Given the description of an element on the screen output the (x, y) to click on. 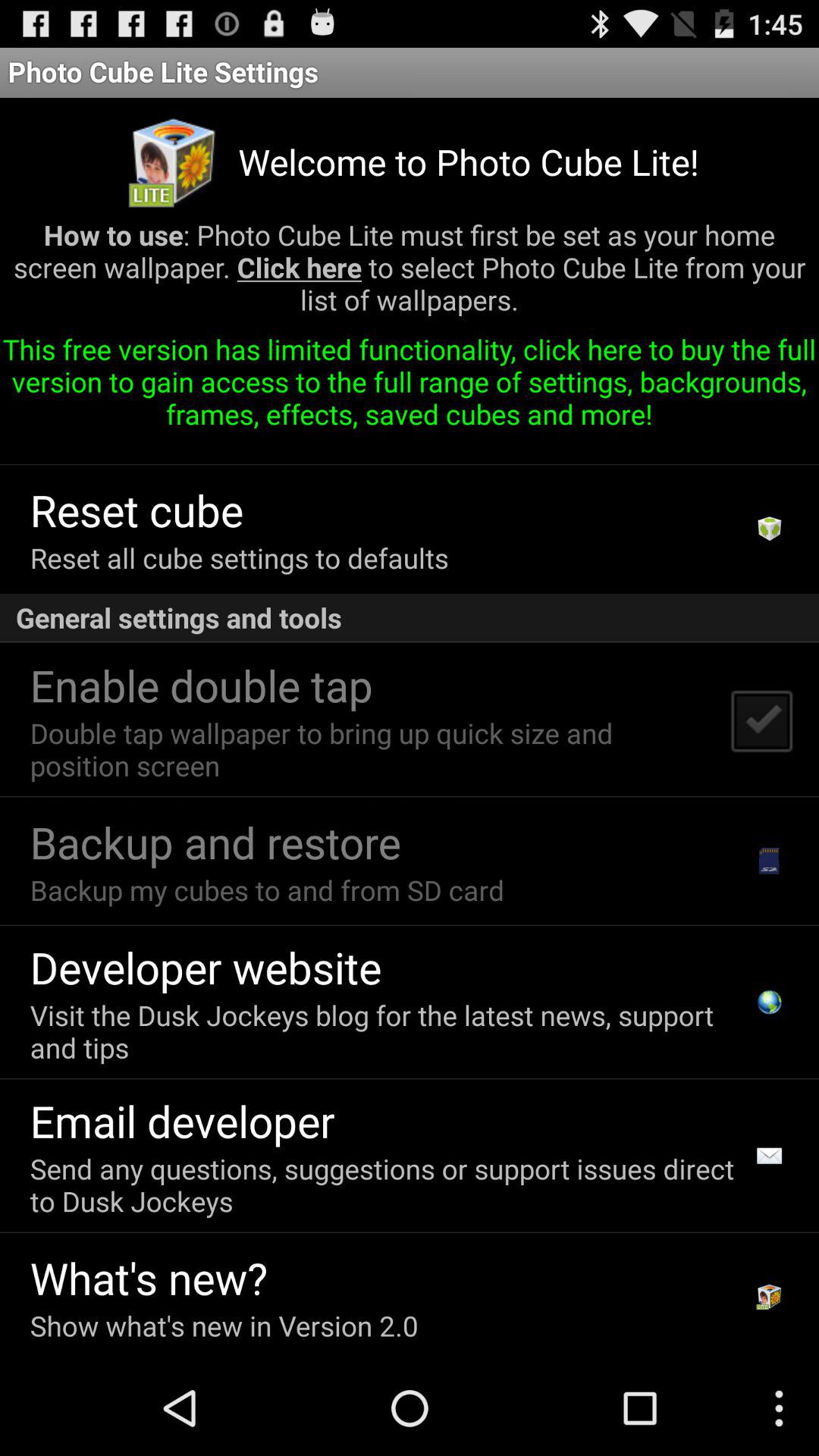
launch icon above reset cube icon (294, 446)
